Given the description of an element on the screen output the (x, y) to click on. 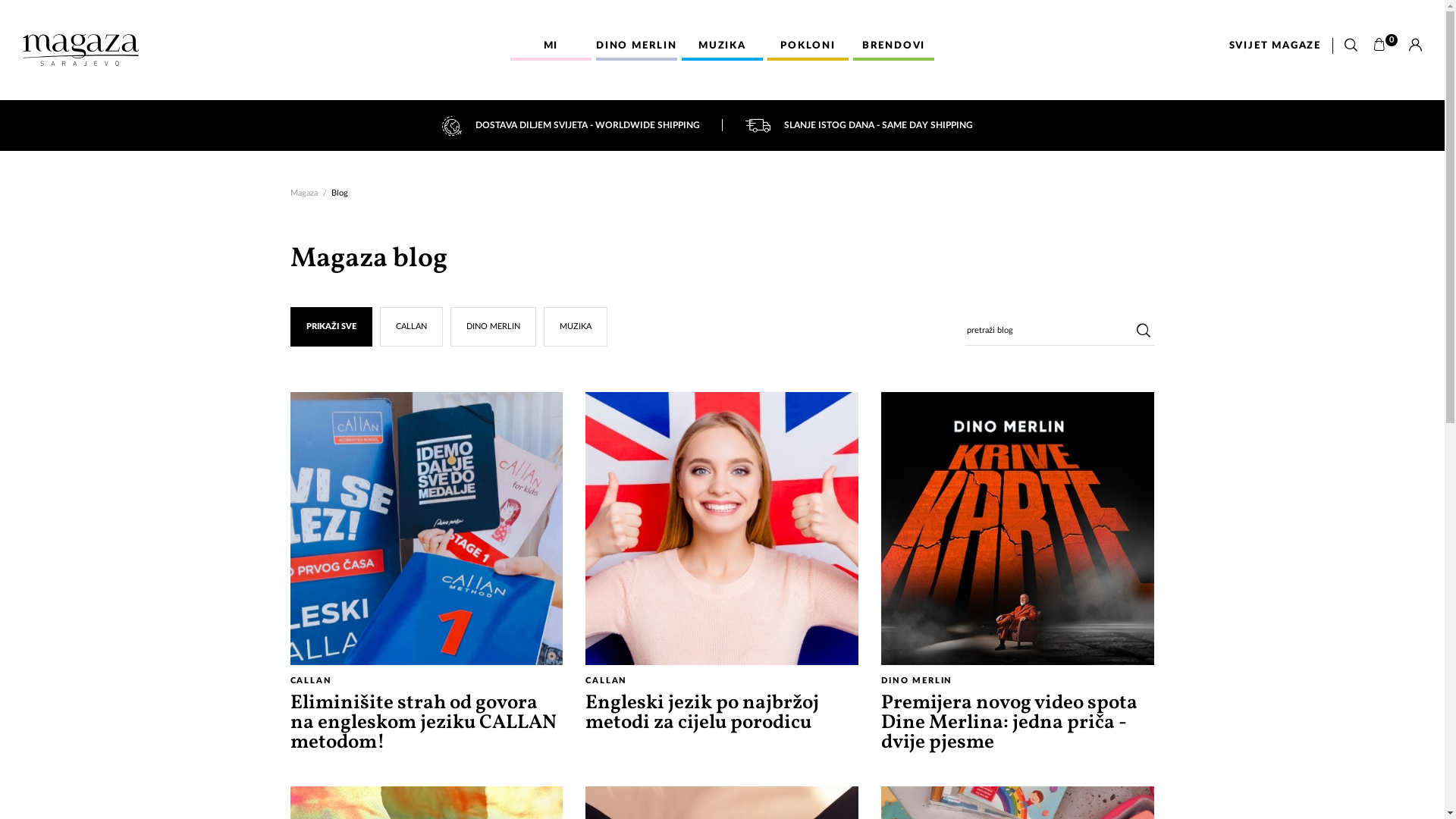
CALLAN Element type: text (411, 326)
MI Element type: text (550, 47)
0 Element type: text (1384, 45)
DINO MERLIN Element type: text (636, 47)
MUZIKA Element type: text (721, 47)
Blog Element type: text (338, 192)
POKLONI Element type: text (807, 47)
Pretraga Element type: hover (1350, 45)
SVIJET MAGAZE Element type: text (1275, 45)
Magaza Element type: text (302, 192)
MUZIKA Element type: text (575, 326)
BRENDOVI Element type: text (893, 47)
DINO MERLIN Element type: text (492, 326)
